Given the description of an element on the screen output the (x, y) to click on. 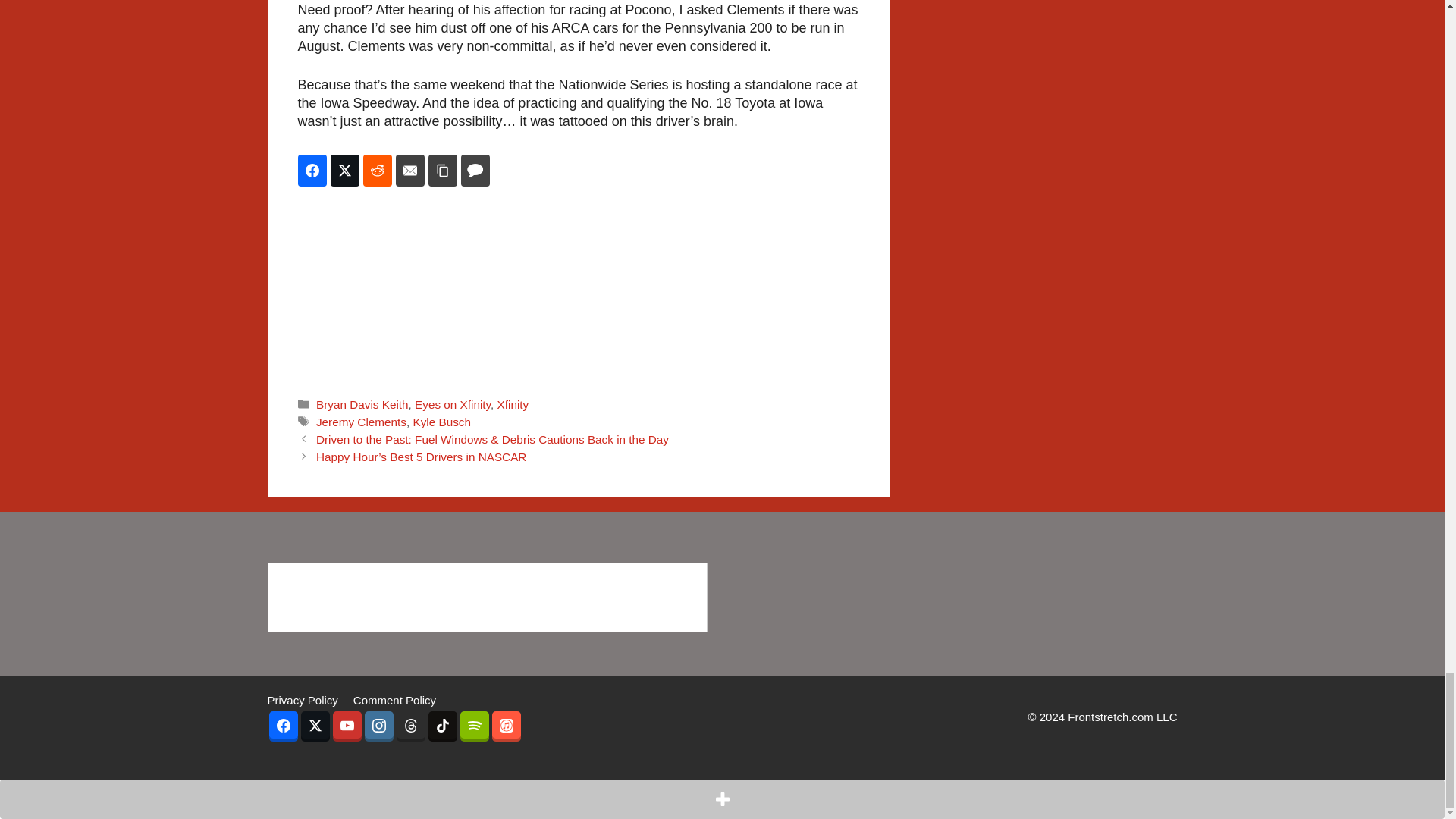
Xfinity (513, 404)
Jeremy Clements (360, 421)
Bryan Davis Keith (362, 404)
Share on Facebook (311, 170)
Share on Email (410, 170)
Share on Twitter (344, 170)
Eyes on Xfinity (452, 404)
Share on Copy Link (442, 170)
Kyle Busch (441, 421)
Share on Reddit (376, 170)
